Given the description of an element on the screen output the (x, y) to click on. 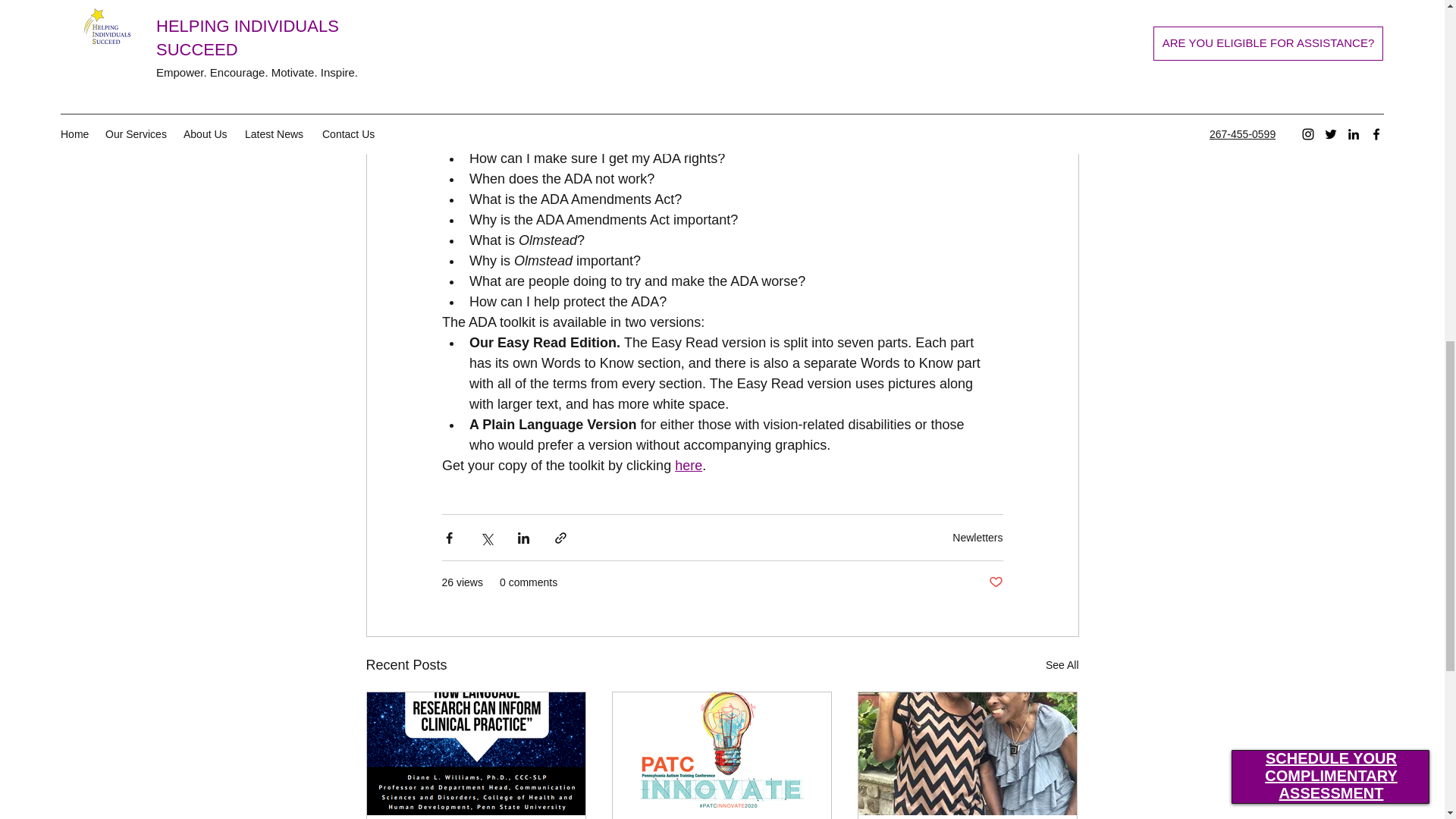
Post not marked as liked (995, 582)
See All (1061, 665)
here (688, 465)
Newletters (977, 537)
